Given the description of an element on the screen output the (x, y) to click on. 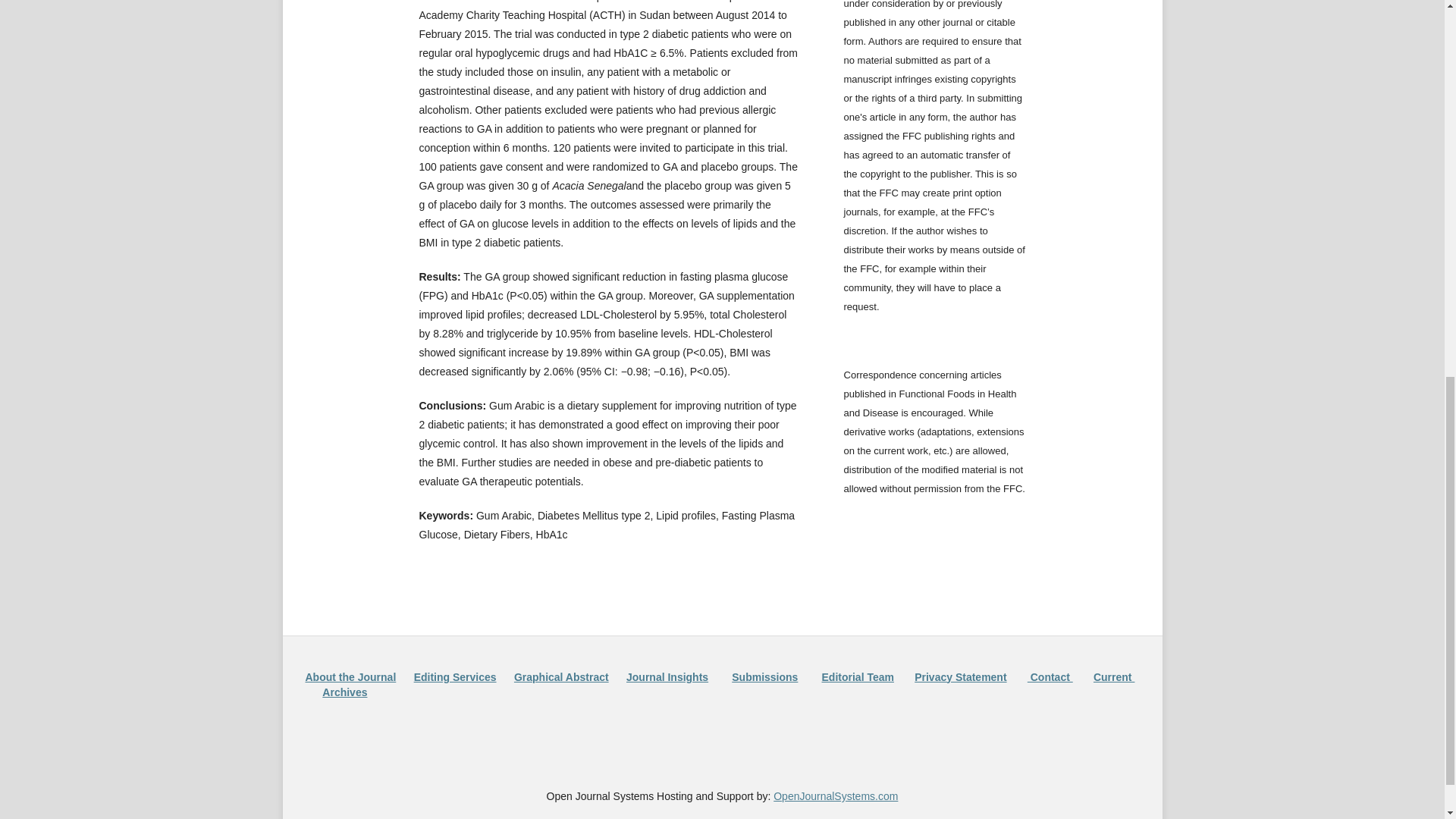
Journal Insights (666, 676)
Submissions (764, 676)
About the Journal (350, 676)
Graphical Abstract (560, 676)
Editing Services (454, 676)
